Given the description of an element on the screen output the (x, y) to click on. 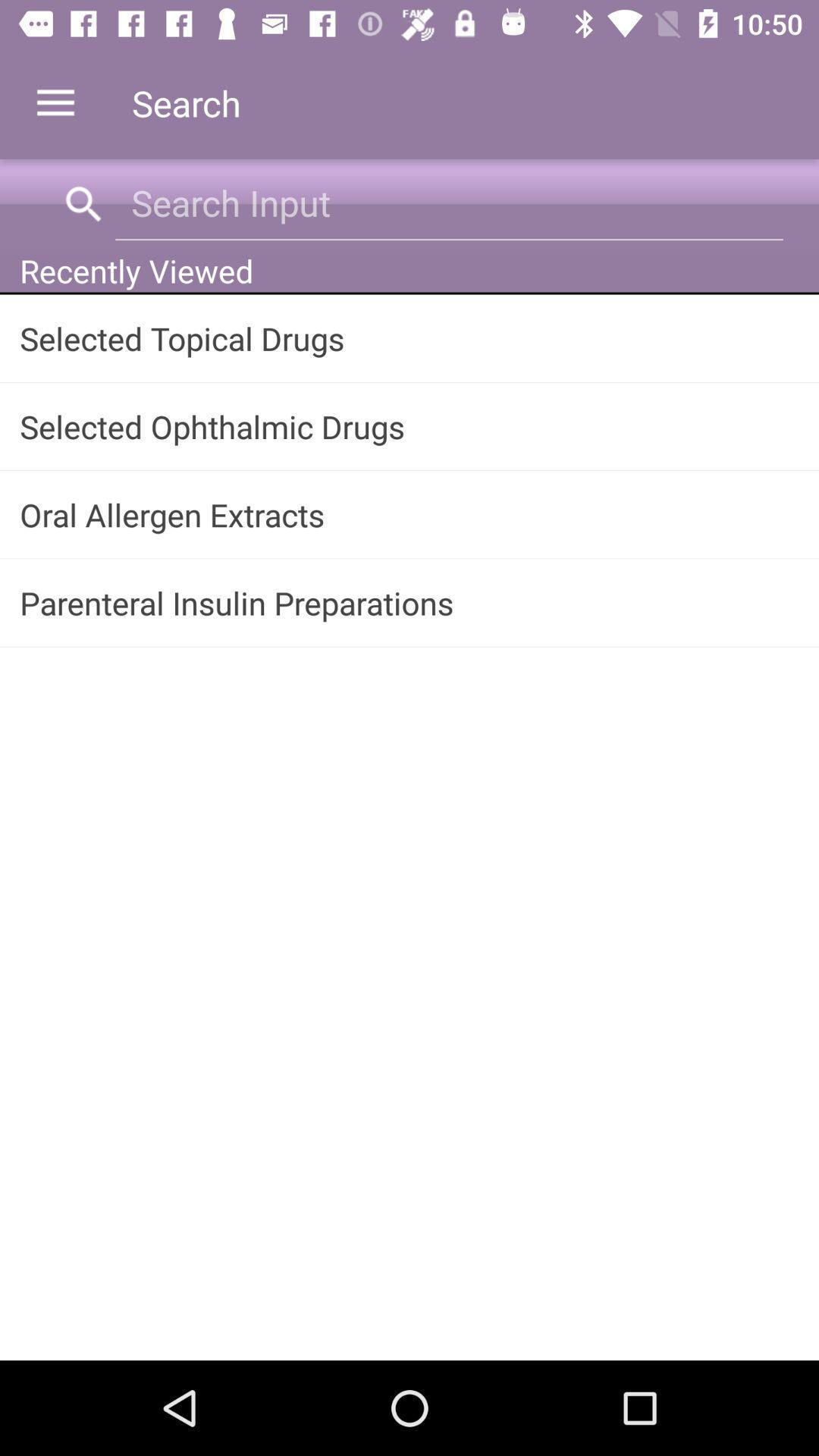
search input bar (449, 202)
